Given the description of an element on the screen output the (x, y) to click on. 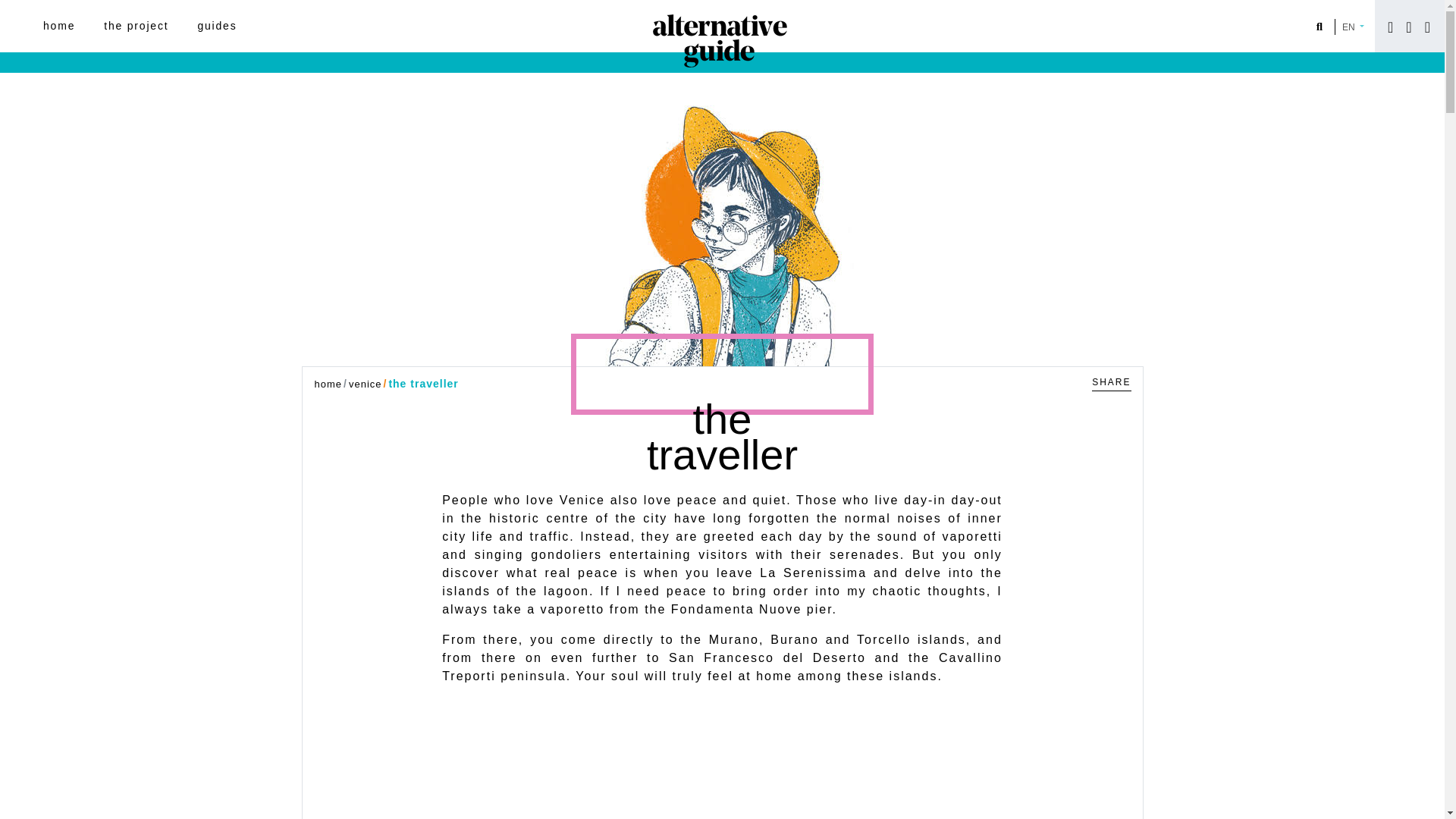
home (328, 383)
Home (328, 383)
home (59, 26)
Venice (365, 383)
SHARE (1111, 378)
the project (135, 26)
guides (216, 26)
venice (365, 383)
